Given the description of an element on the screen output the (x, y) to click on. 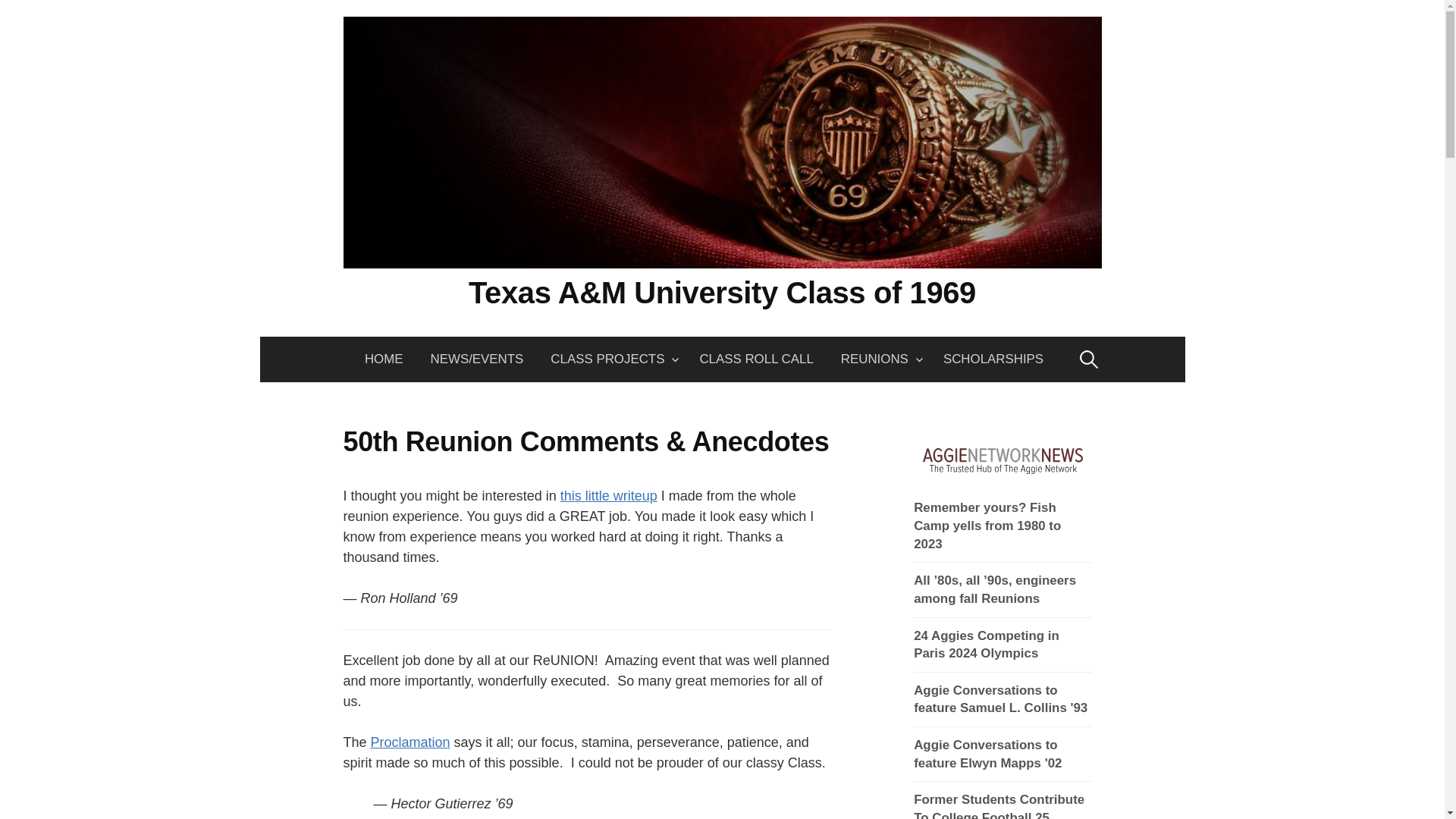
REUNIONS (878, 359)
Search (16, 16)
this little writeup (609, 495)
Former Students Contribute To College Football 25 (1003, 805)
HOME (390, 359)
Remember yours? Fish Camp yells from 1980 to 2023 (1003, 525)
Aggie Conversations to feature Elwyn Mapps '02 (1003, 754)
CLASS ROLL CALL (756, 359)
CLASS PROJECTS (611, 359)
Aggie Conversations to feature Samuel L. Collins '93 (1003, 699)
SCHOLARSHIPS (993, 359)
24 Aggies Competing in Paris 2024 Olympics (1003, 644)
Proclamation (410, 742)
